Given the description of an element on the screen output the (x, y) to click on. 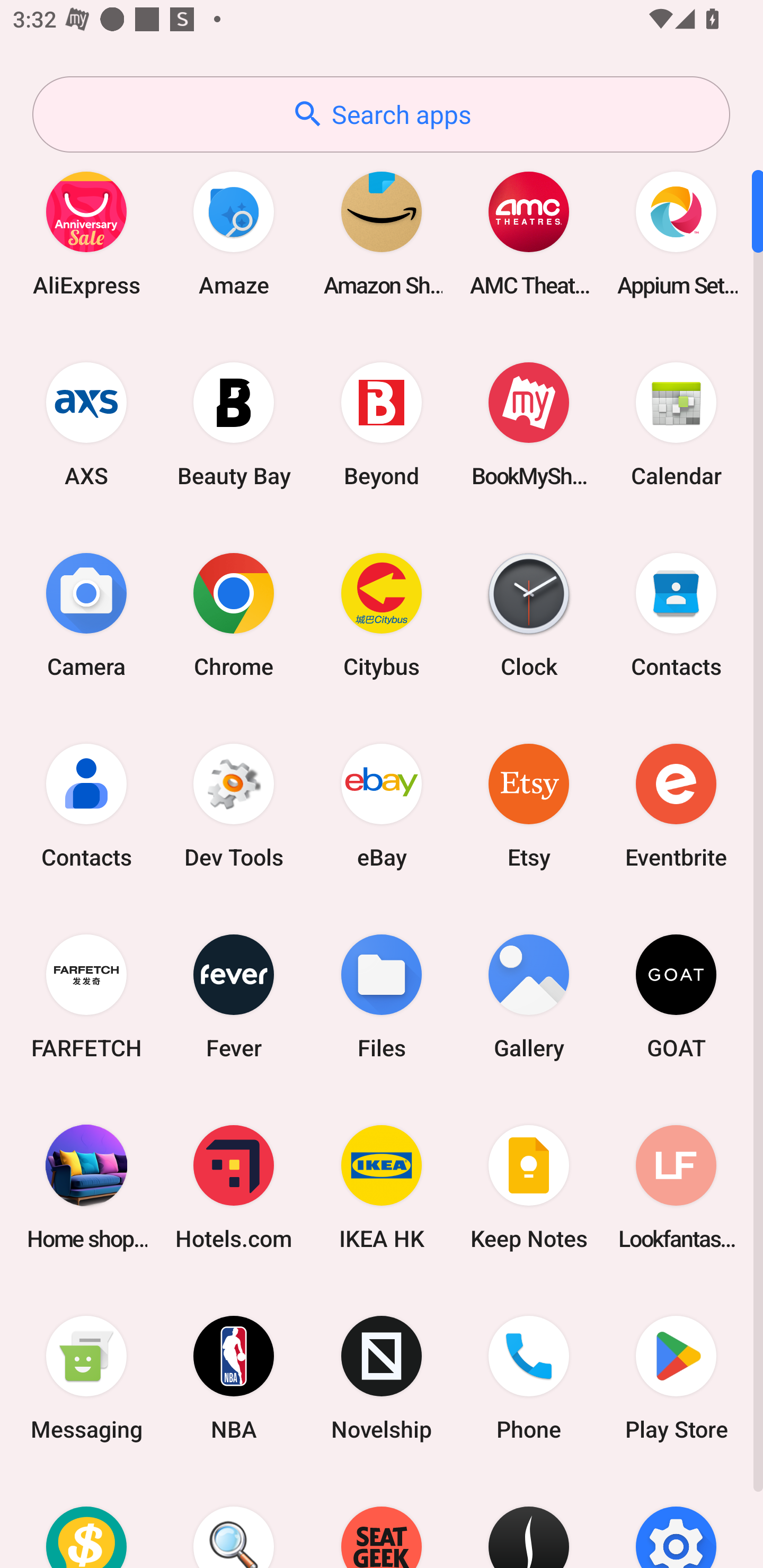
  Search apps (381, 114)
AliExpress (86, 233)
Amaze (233, 233)
Amazon Shopping (381, 233)
AMC Theatres (528, 233)
Appium Settings (676, 233)
AXS (86, 424)
Beauty Bay (233, 424)
Beyond (381, 424)
BookMyShow (528, 424)
Calendar (676, 424)
Camera (86, 614)
Chrome (233, 614)
Citybus (381, 614)
Clock (528, 614)
Contacts (676, 614)
Contacts (86, 805)
Dev Tools (233, 805)
eBay (381, 805)
Etsy (528, 805)
Eventbrite (676, 805)
FARFETCH (86, 996)
Fever (233, 996)
Files (381, 996)
Gallery (528, 996)
GOAT (676, 996)
Home shopping (86, 1186)
Hotels.com (233, 1186)
IKEA HK (381, 1186)
Keep Notes (528, 1186)
Lookfantastic (676, 1186)
Messaging (86, 1377)
NBA (233, 1377)
Novelship (381, 1377)
Phone (528, 1377)
Play Store (676, 1377)
Price (86, 1520)
Search (233, 1520)
SeatGeek (381, 1520)
Sephora (528, 1520)
Settings (676, 1520)
